Given the description of an element on the screen output the (x, y) to click on. 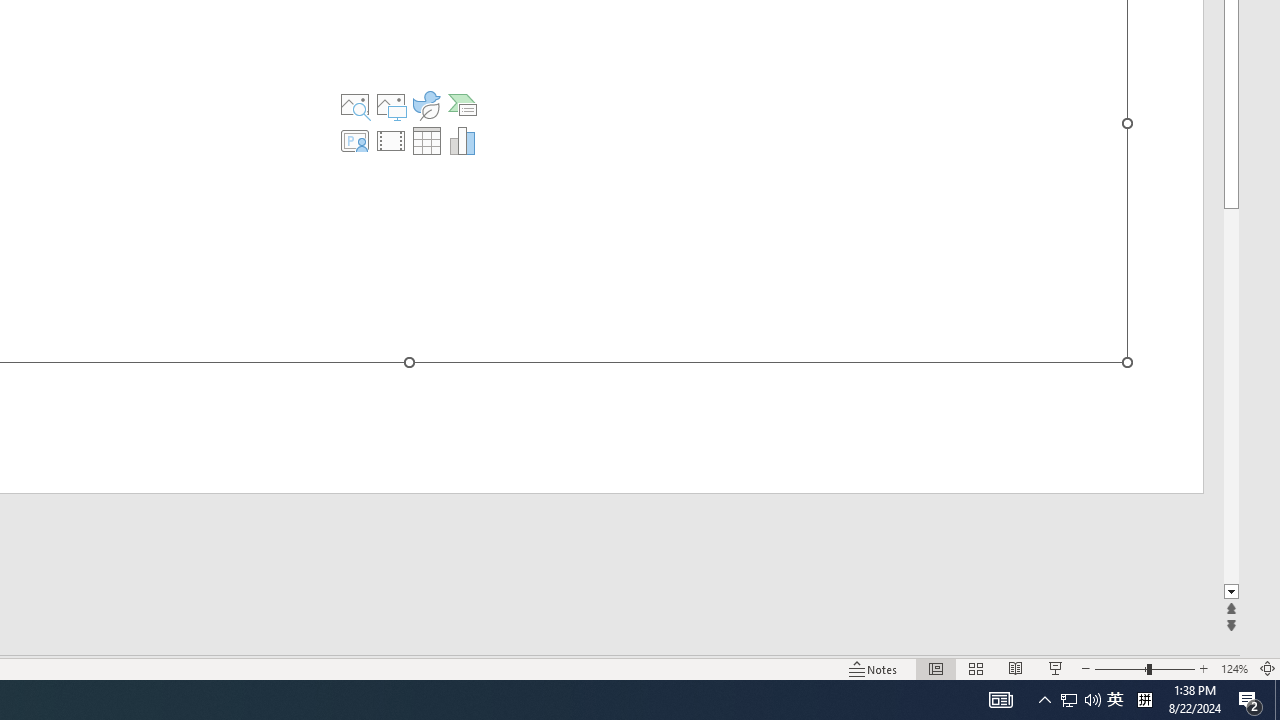
Insert Table (426, 140)
Stock Images (355, 104)
